Given the description of an element on the screen output the (x, y) to click on. 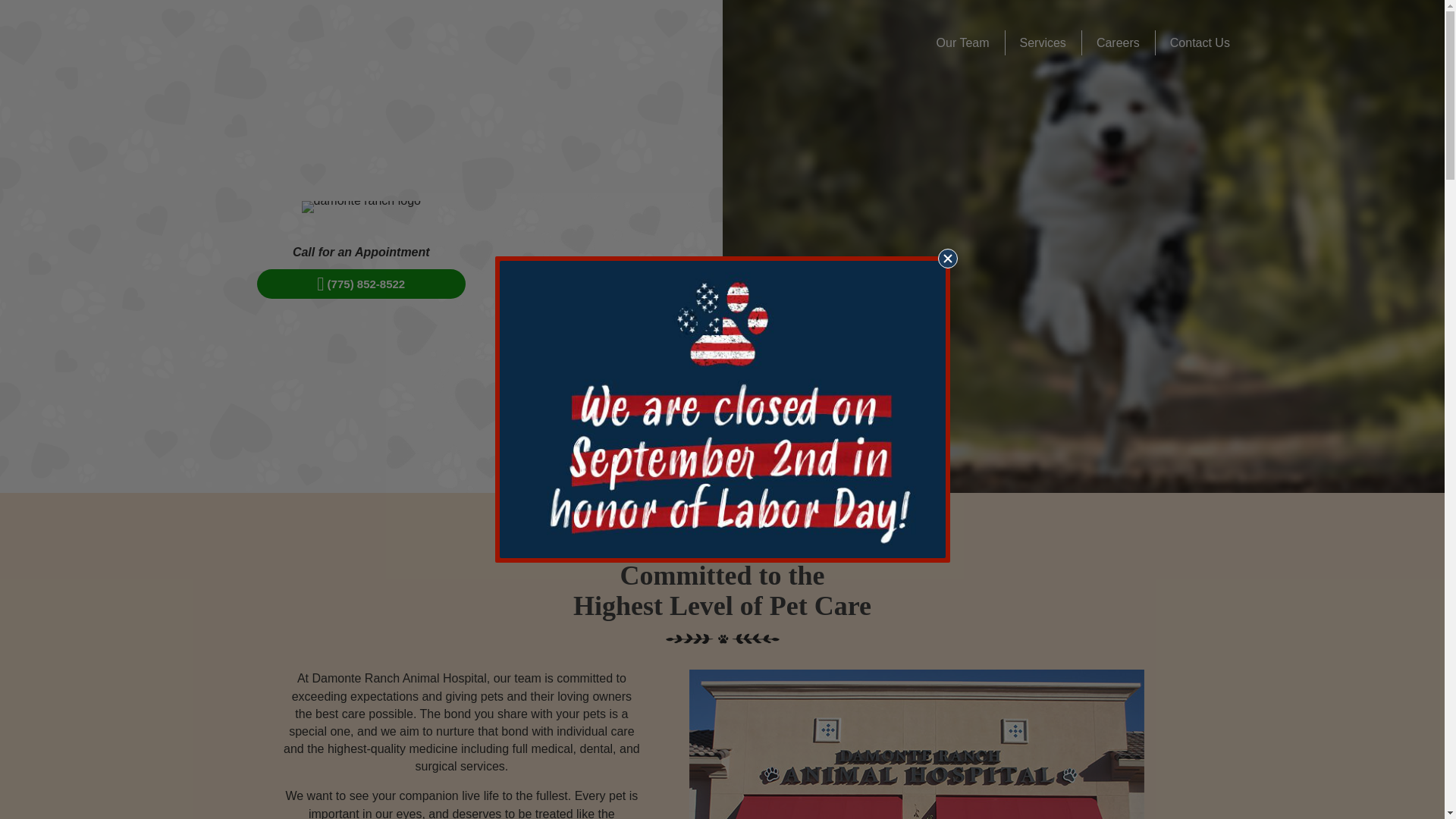
Contact Us (1200, 42)
building (917, 744)
Careers (1117, 42)
Our Team (962, 42)
DRAH logo (360, 206)
Services (1043, 42)
